Given the description of an element on the screen output the (x, y) to click on. 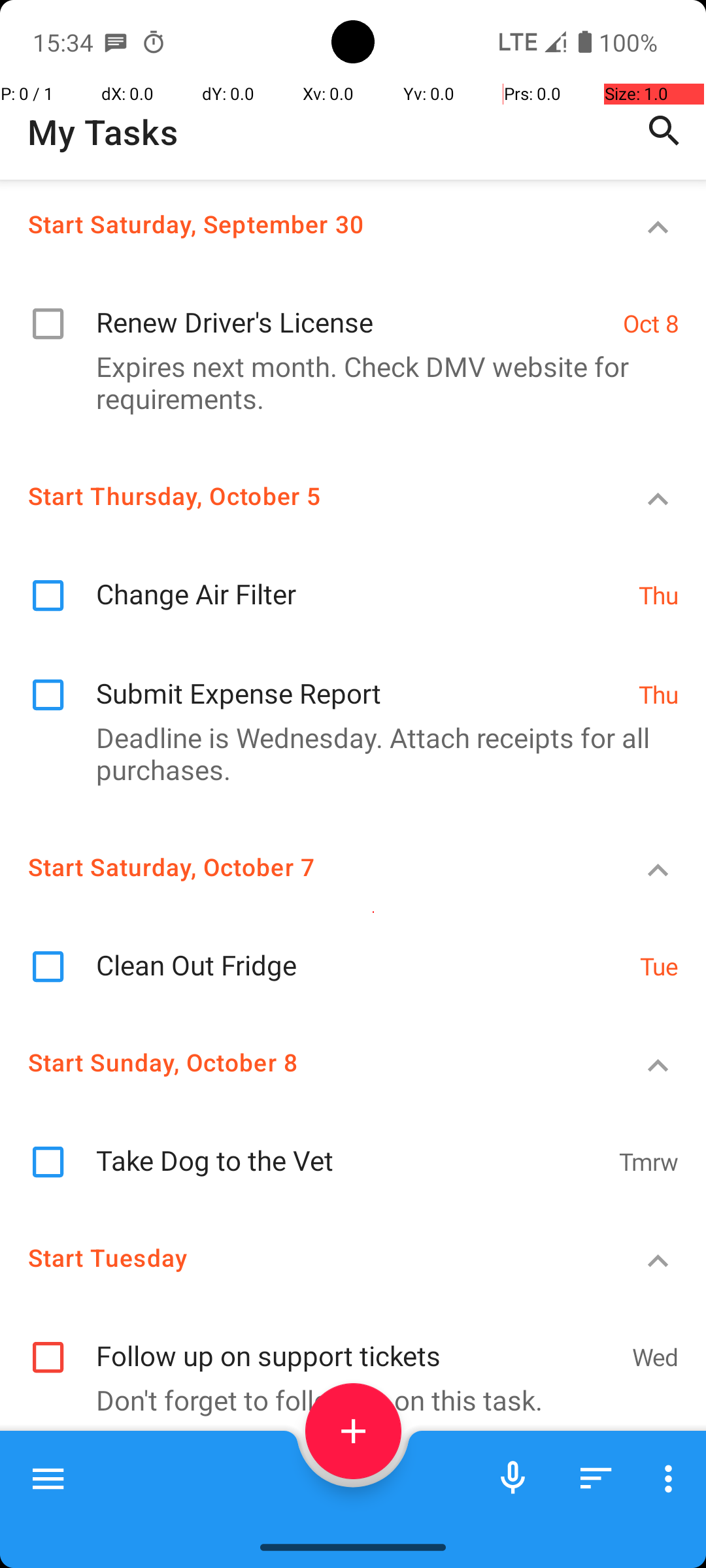
Start Saturday, September 30 Element type: android.widget.TextView (304, 223)
Start Thursday, October 5 Element type: android.widget.TextView (304, 495)
Start Saturday, October 7 Element type: android.widget.TextView (304, 866)
Start Sunday, October 8 Element type: android.widget.TextView (304, 1061)
Start Tuesday Element type: android.widget.TextView (304, 1257)
Start yesterday Element type: android.widget.TextView (304, 1489)
Follow up on support tickets Element type: android.widget.TextView (357, 1341)
Don't forget to follow up on this task. Element type: android.widget.TextView (346, 1399)
